Given the description of an element on the screen output the (x, y) to click on. 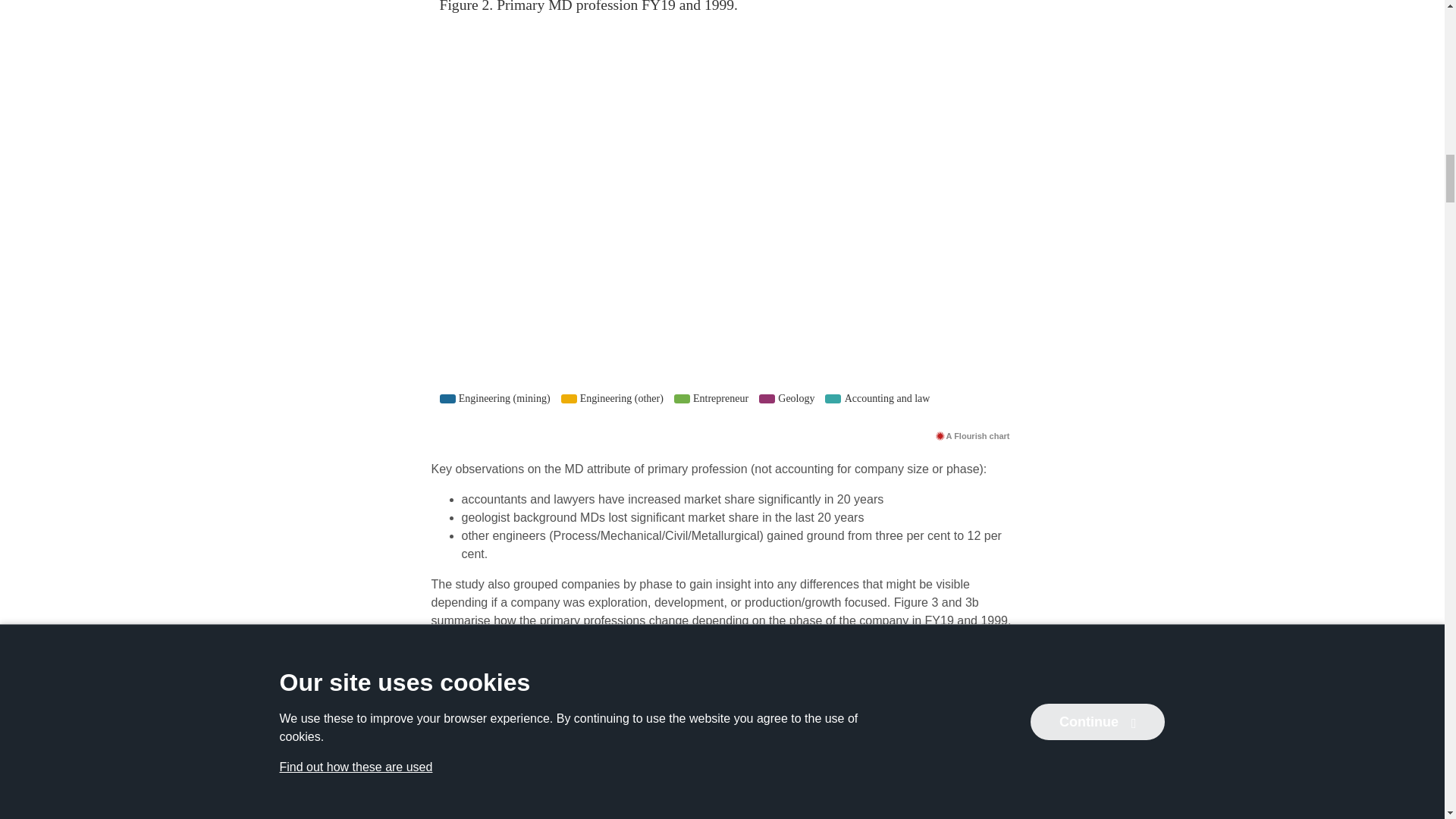
A Flourish chart (972, 435)
Interactive or visual content (721, 733)
